Given the description of an element on the screen output the (x, y) to click on. 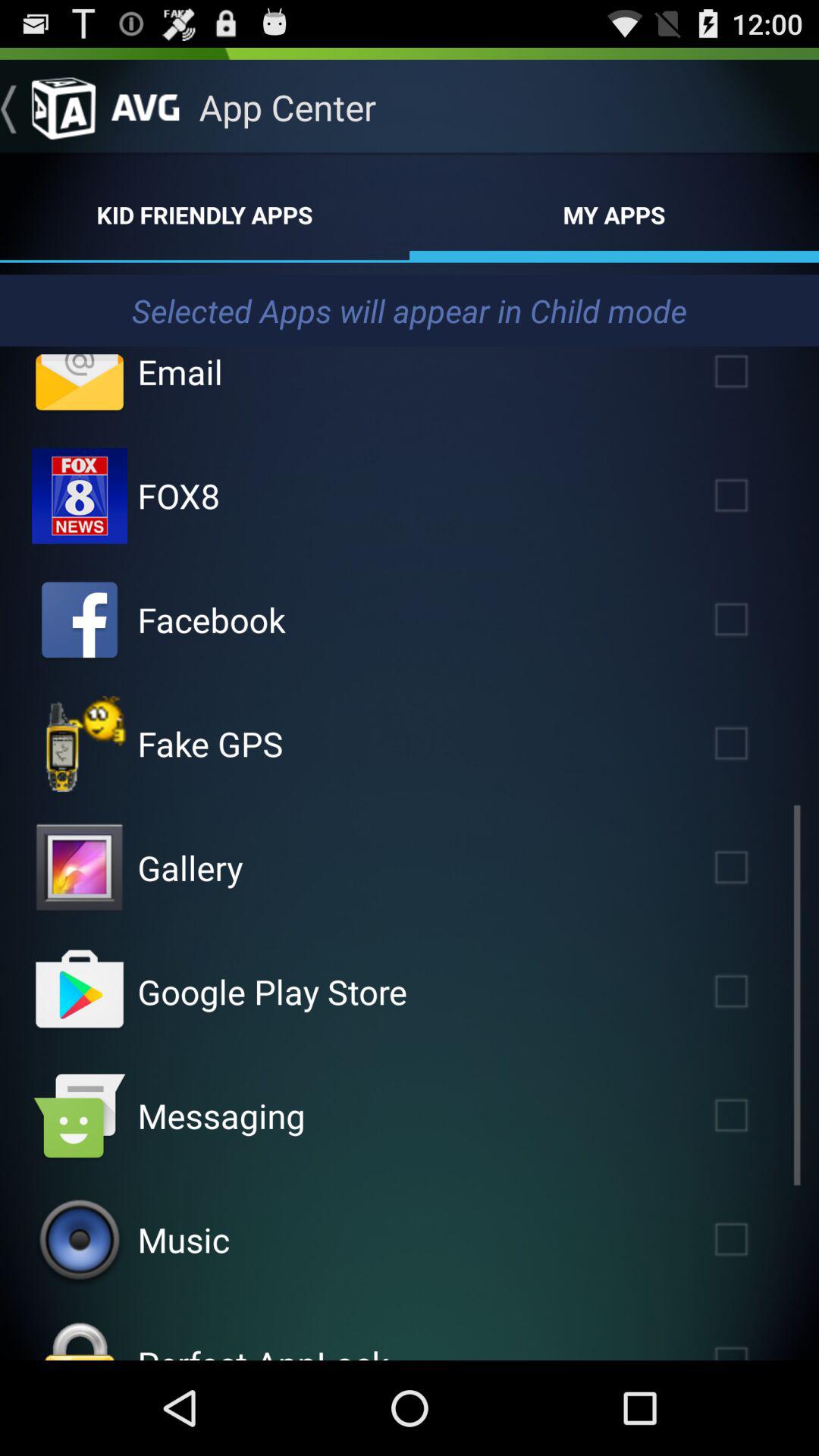
select apps (753, 378)
